Given the description of an element on the screen output the (x, y) to click on. 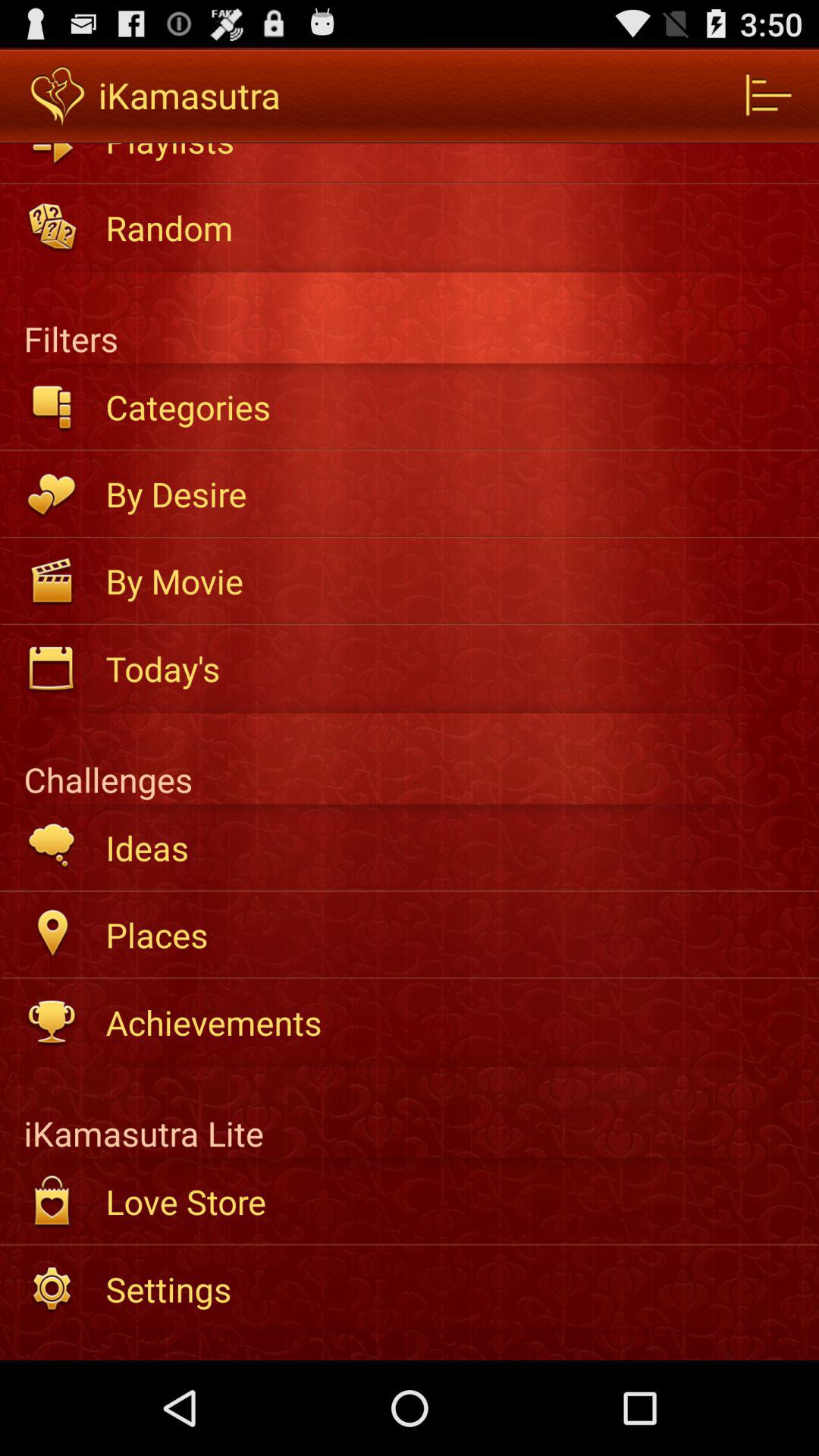
click the icon above the ikamasutra lite icon (452, 1022)
